Given the description of an element on the screen output the (x, y) to click on. 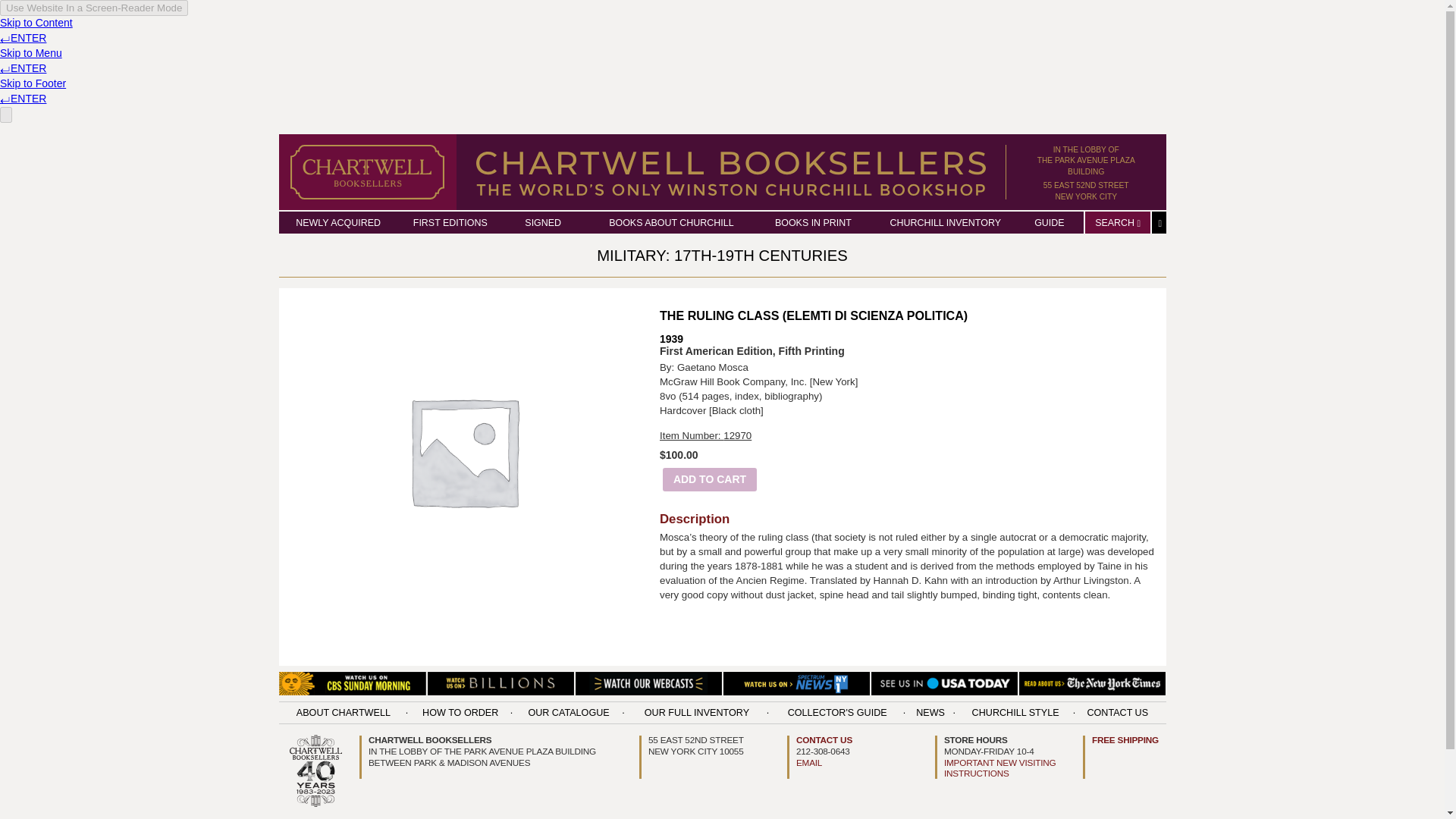
MILITARY: 17TH-19TH CENTURIES (721, 255)
BOOKS IN PRINT (812, 222)
BOOKS ABOUT CHURCHILL (670, 222)
SEARCH (1085, 160)
SIGNED (1117, 222)
FIRST EDITIONS (542, 222)
CHURCHILL INVENTORY (450, 222)
NEWLY ACQUIRED (944, 222)
GUIDE (337, 222)
ADD TO CART (1086, 189)
